Given the description of an element on the screen output the (x, y) to click on. 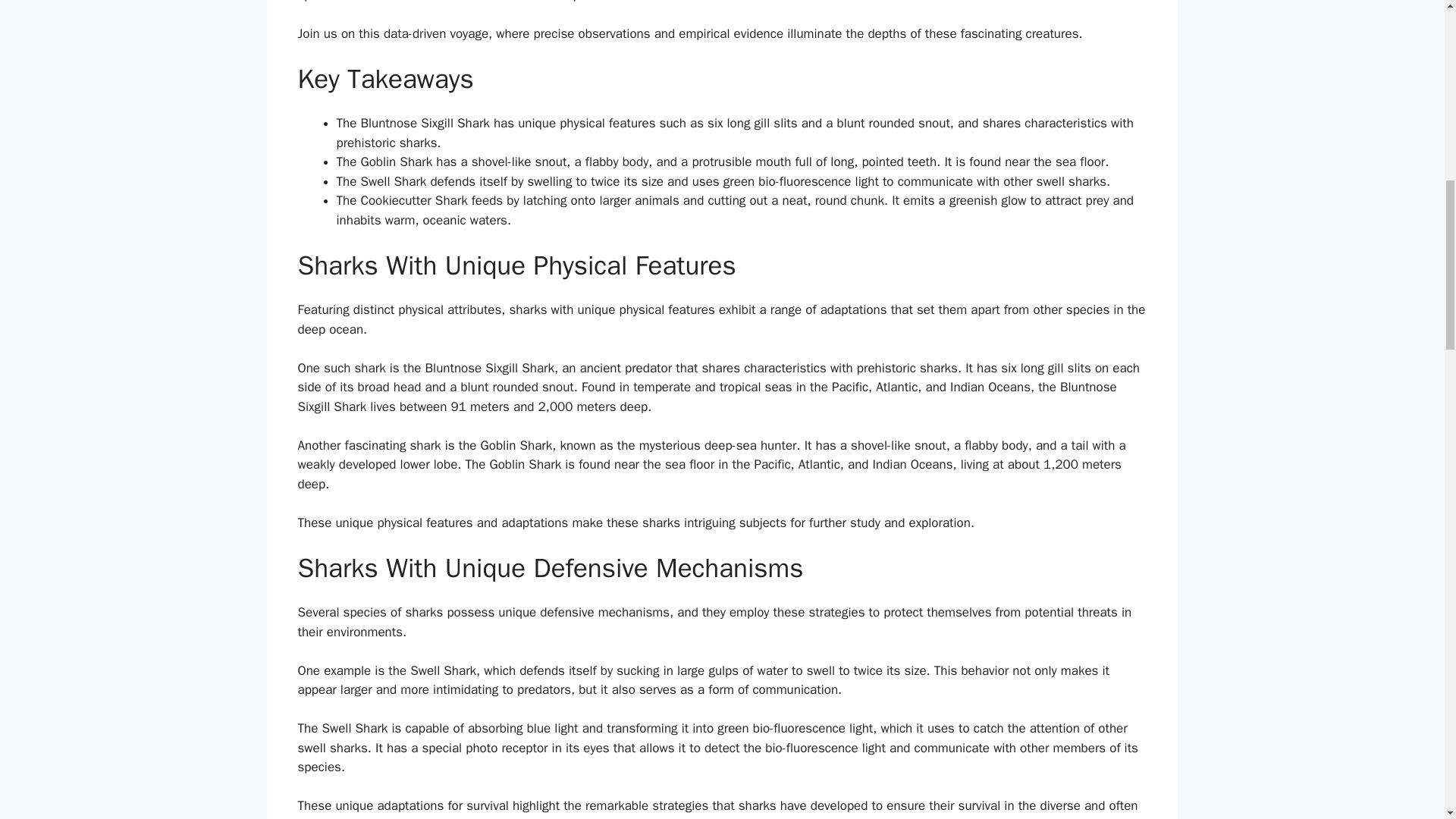
Scroll back to top (1406, 720)
